Given the description of an element on the screen output the (x, y) to click on. 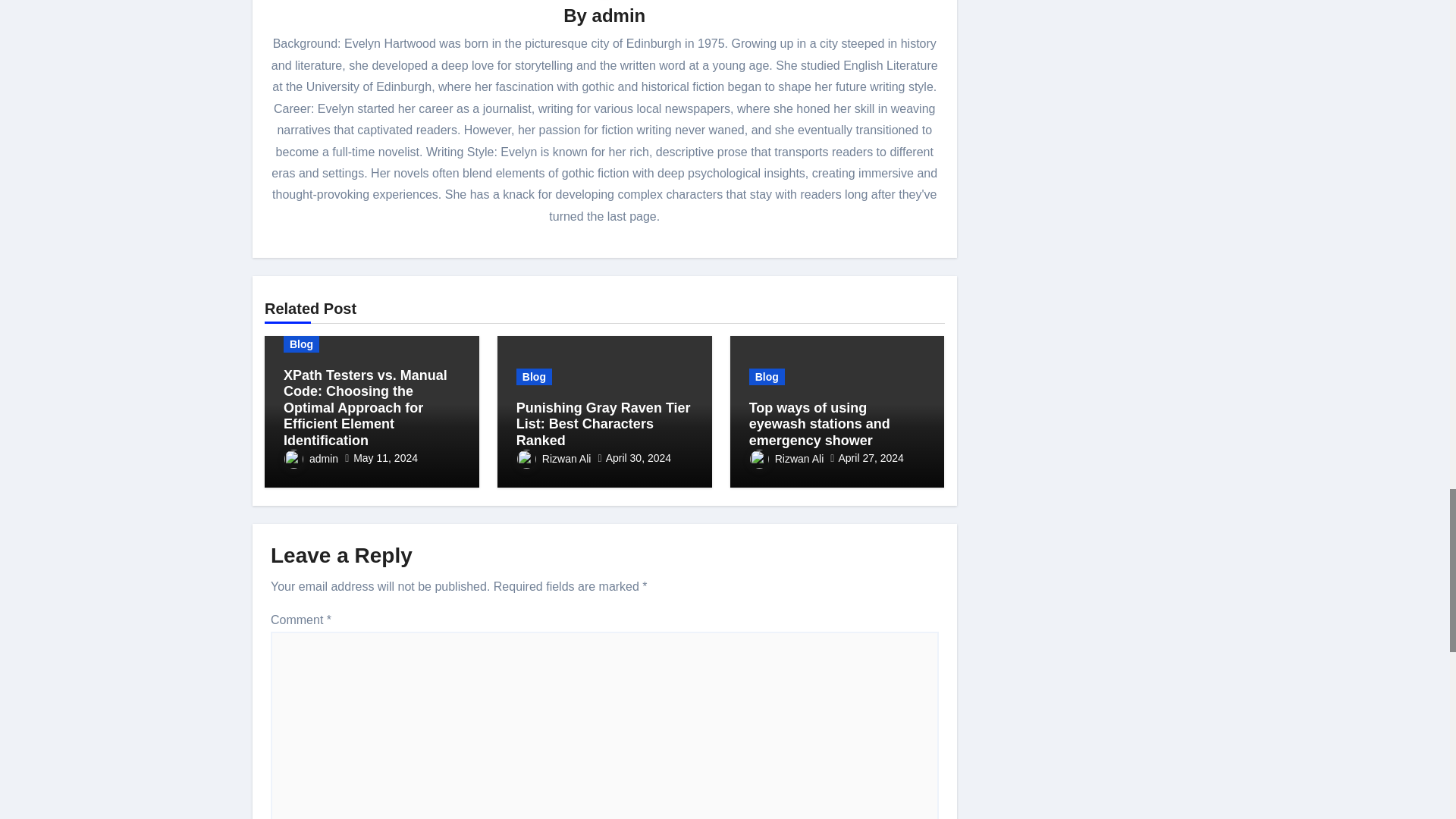
Blog (300, 343)
admin (619, 14)
